Given the description of an element on the screen output the (x, y) to click on. 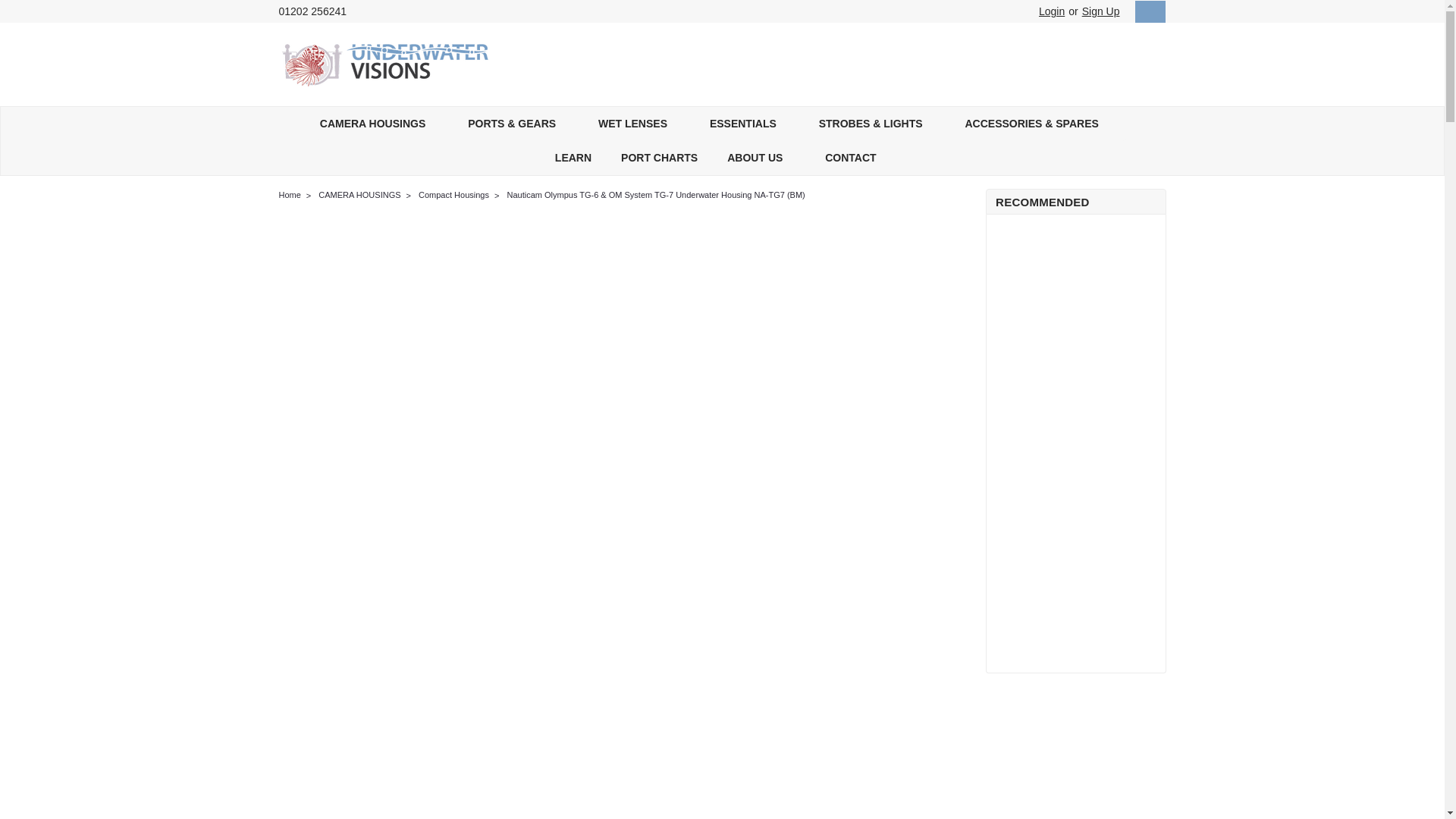
Login (1051, 11)
UW Visions - Nauticam UK (385, 63)
Sign Up (1098, 11)
